Given the description of an element on the screen output the (x, y) to click on. 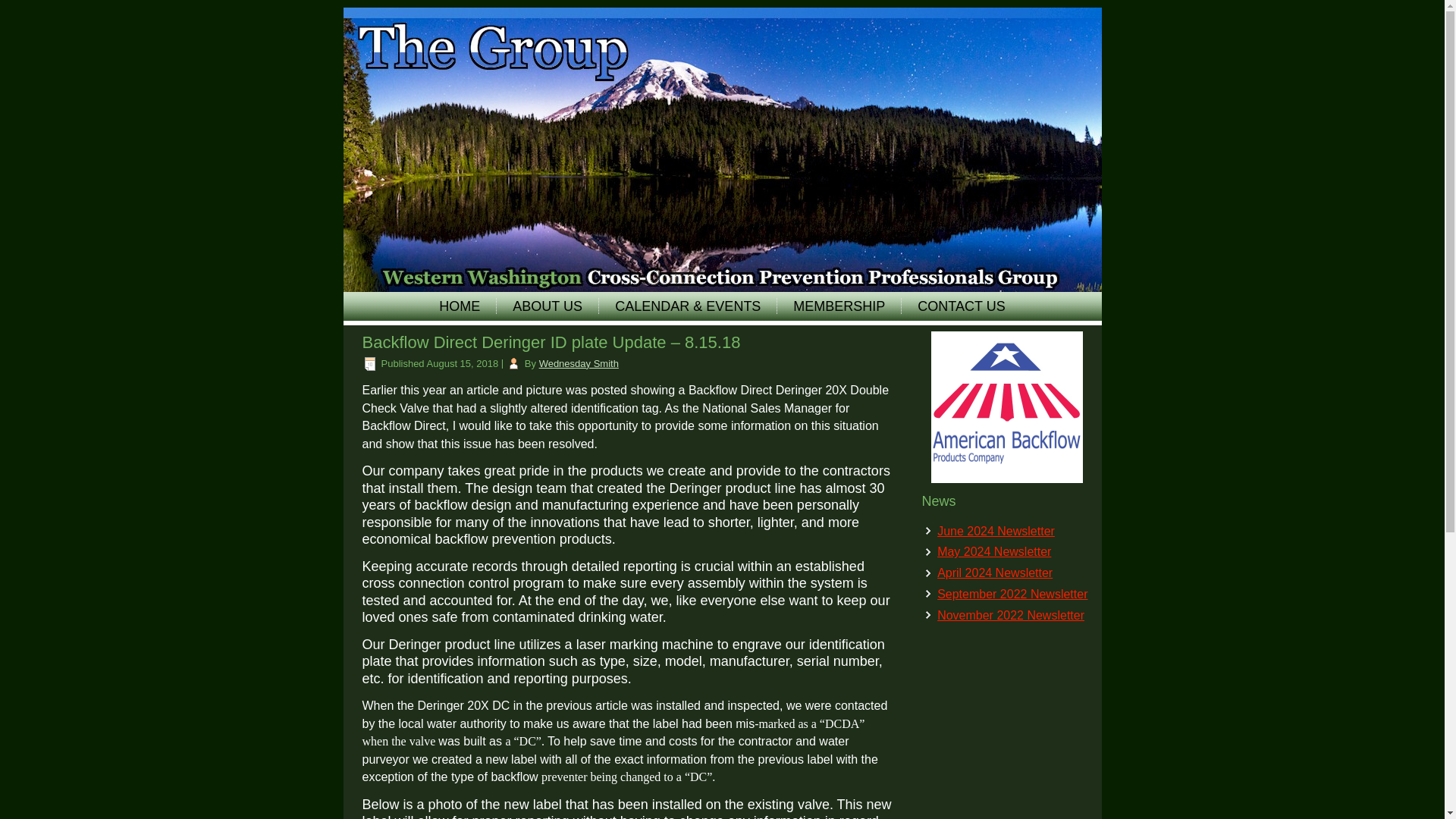
Wednesday Smith (578, 363)
MEMBERSHIP (838, 306)
HOME (459, 306)
ABOUT US (547, 306)
ABOUT US (547, 306)
June 2024 Newsletter (995, 530)
Home (459, 306)
CONTACT US (960, 306)
